Given the description of an element on the screen output the (x, y) to click on. 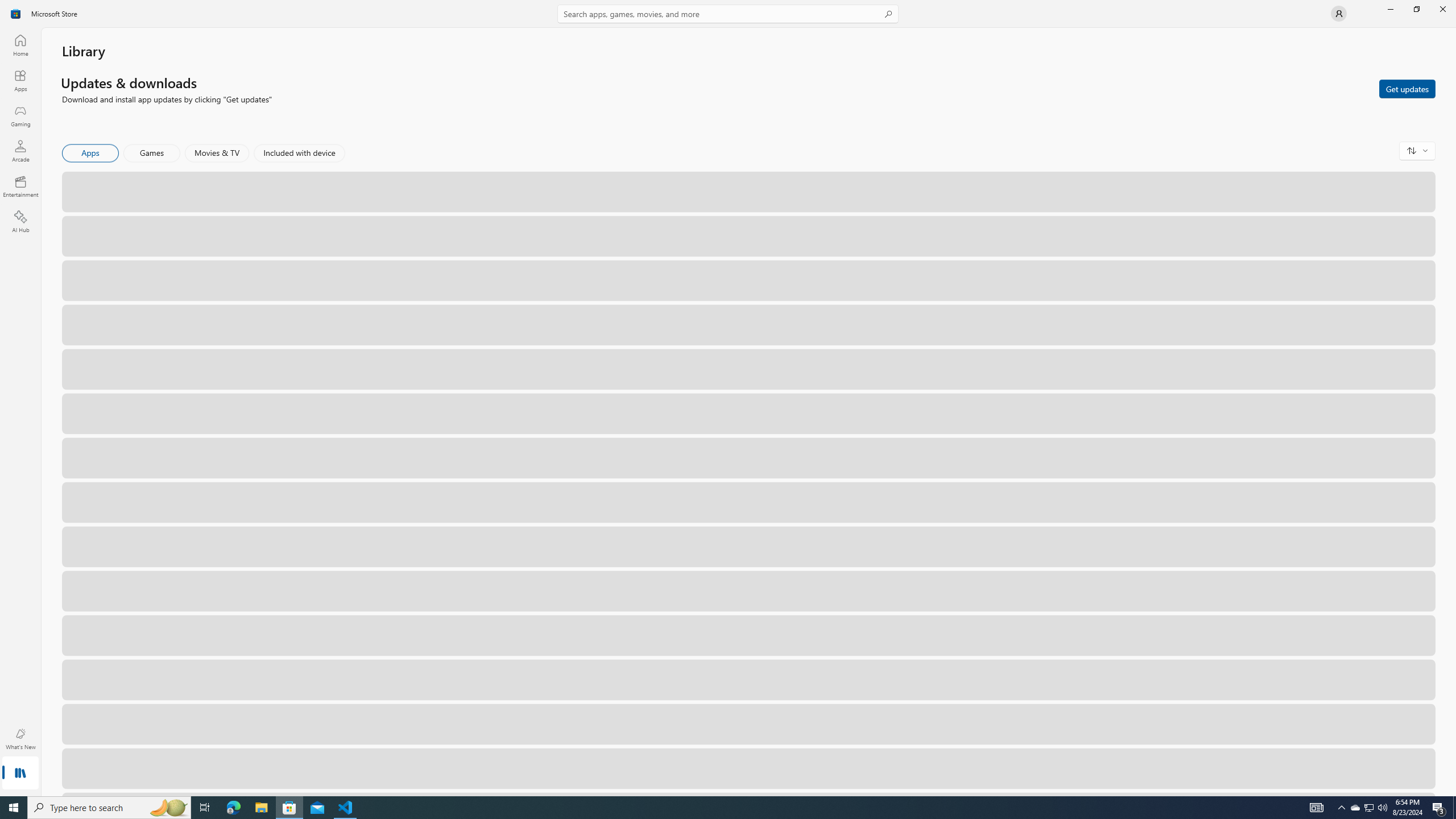
Restore Microsoft Store (1416, 9)
Gaming (20, 115)
Entertainment (20, 185)
Get updates (1406, 88)
AI Hub (20, 221)
Included with device (299, 153)
User profile (1338, 13)
Apps (20, 80)
